Given the description of an element on the screen output the (x, y) to click on. 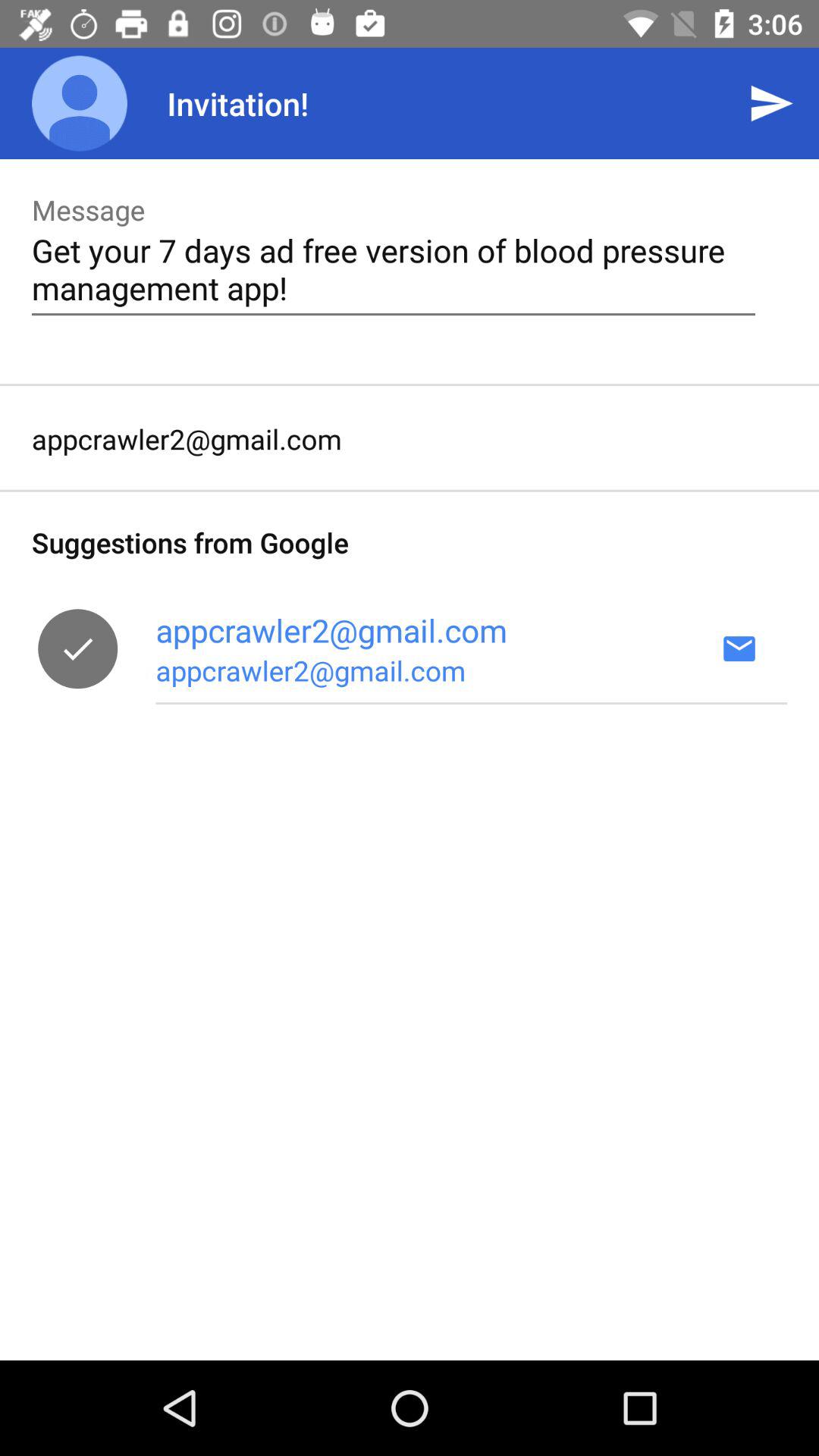
tap item next to invitation! icon (771, 103)
